Given the description of an element on the screen output the (x, y) to click on. 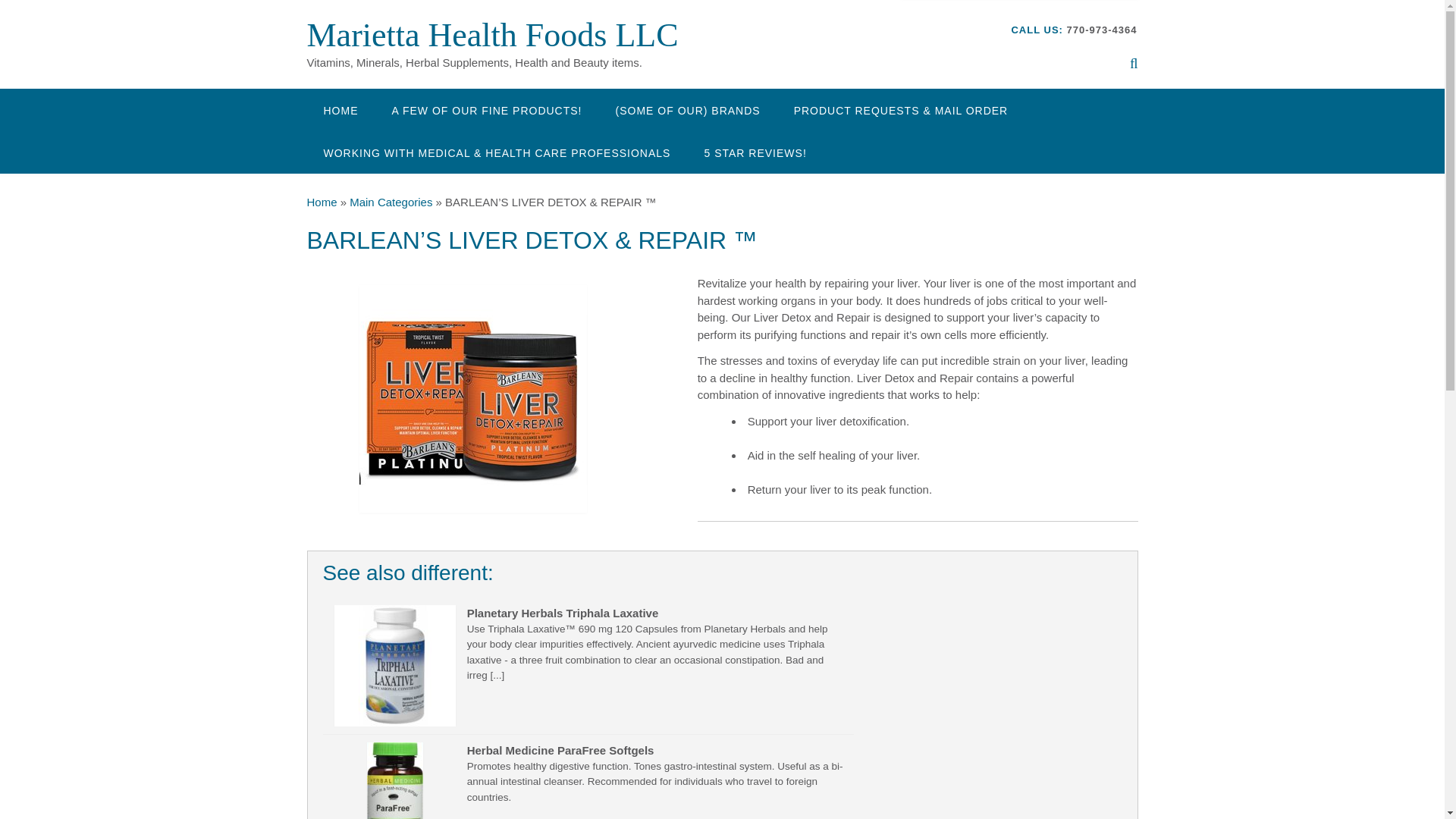
HOME (339, 109)
A FEW OF OUR FINE PRODUCTS! (486, 109)
Marietta Health Foods LLC (491, 35)
Marietta Health Foods LLC (491, 35)
